Given the description of an element on the screen output the (x, y) to click on. 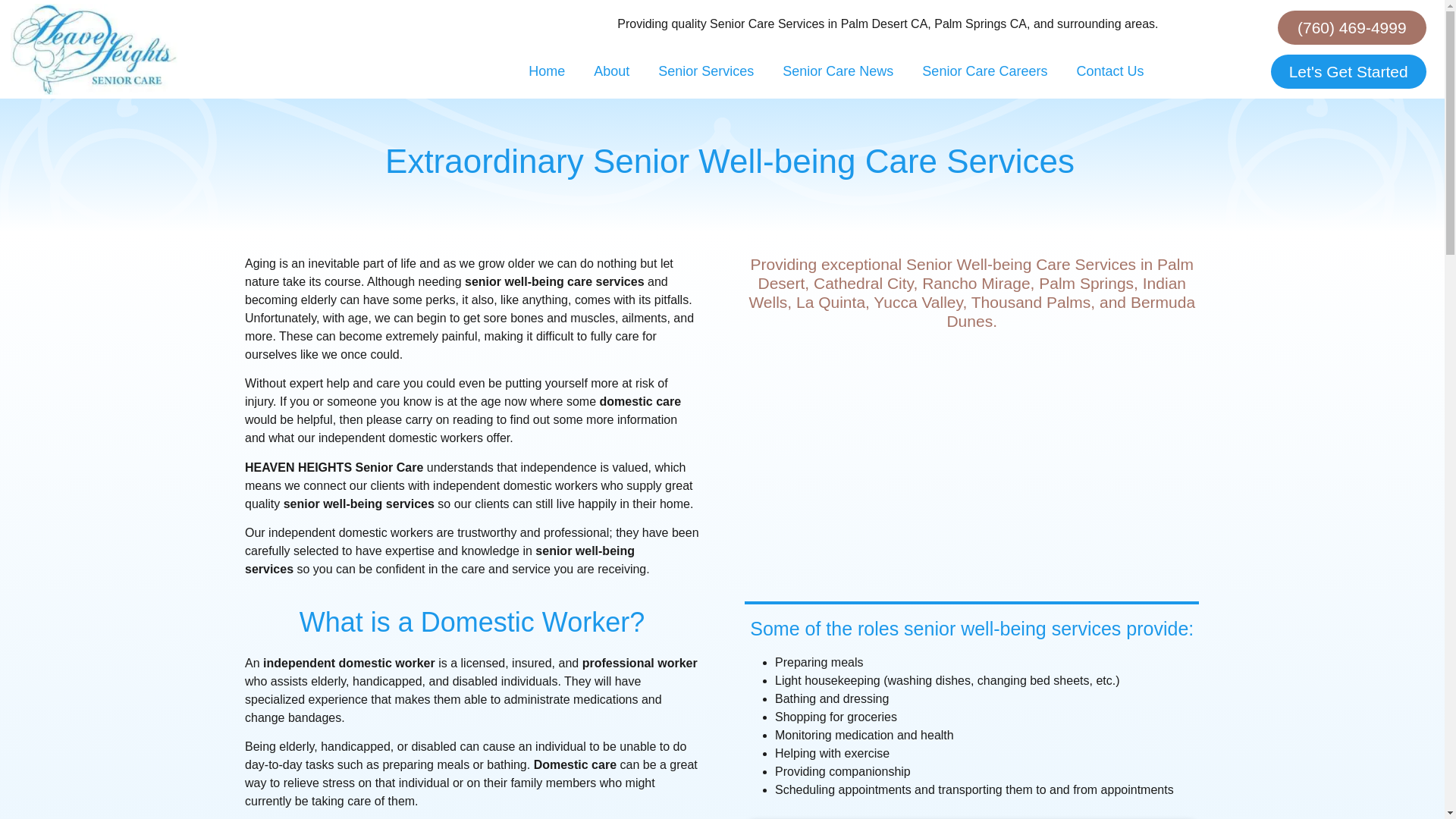
Home (546, 70)
Senior Care News (837, 70)
Let's Get Started (1348, 71)
Contact Us (1109, 70)
About (611, 70)
Senior Services (705, 70)
Senior Care Careers (984, 70)
